Given the description of an element on the screen output the (x, y) to click on. 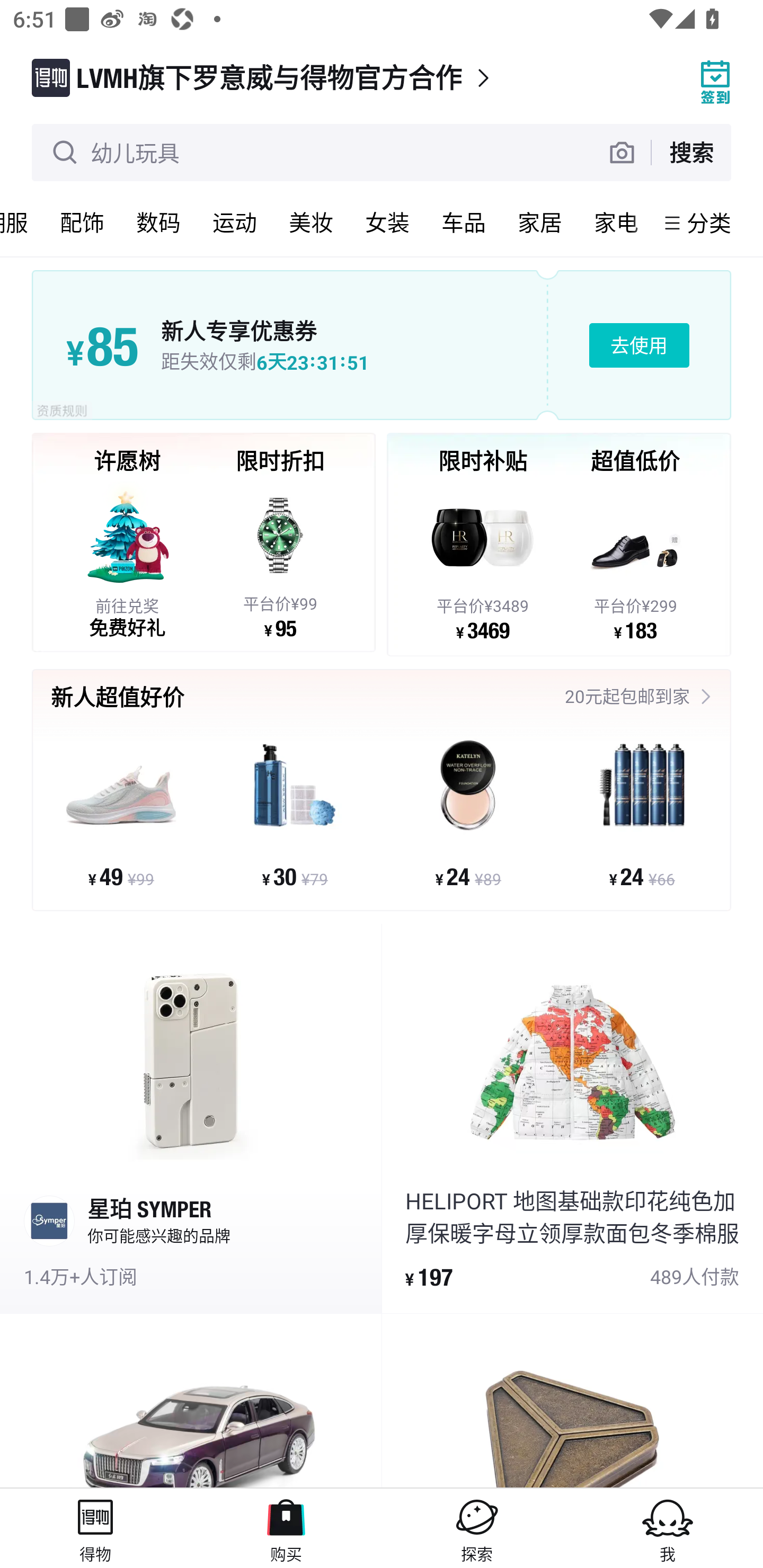
搜索 (690, 152)
配饰 (82, 222)
数码 (158, 222)
运动 (234, 222)
美妆 (311, 222)
女装 (387, 222)
车品 (463, 222)
家居 (540, 222)
家电 (616, 222)
分类 (708, 222)
平台价¥99 ¥ 95 (279, 559)
前往兑奖 免费好礼 (127, 559)
平台价¥3489 ¥ 3469 (482, 560)
平台价¥299 ¥ 183 (635, 560)
¥ 49 ¥99 (121, 813)
¥ 30 ¥79 (294, 813)
¥ 24 ¥89 (468, 813)
¥ 24 ¥66 (641, 813)
星珀 SYMPER 你可能感兴趣的品牌 1.4万+人订阅 (190, 1118)
product_item (190, 1400)
得物 (95, 1528)
购买 (285, 1528)
探索 (476, 1528)
我 (667, 1528)
